Given the description of an element on the screen output the (x, y) to click on. 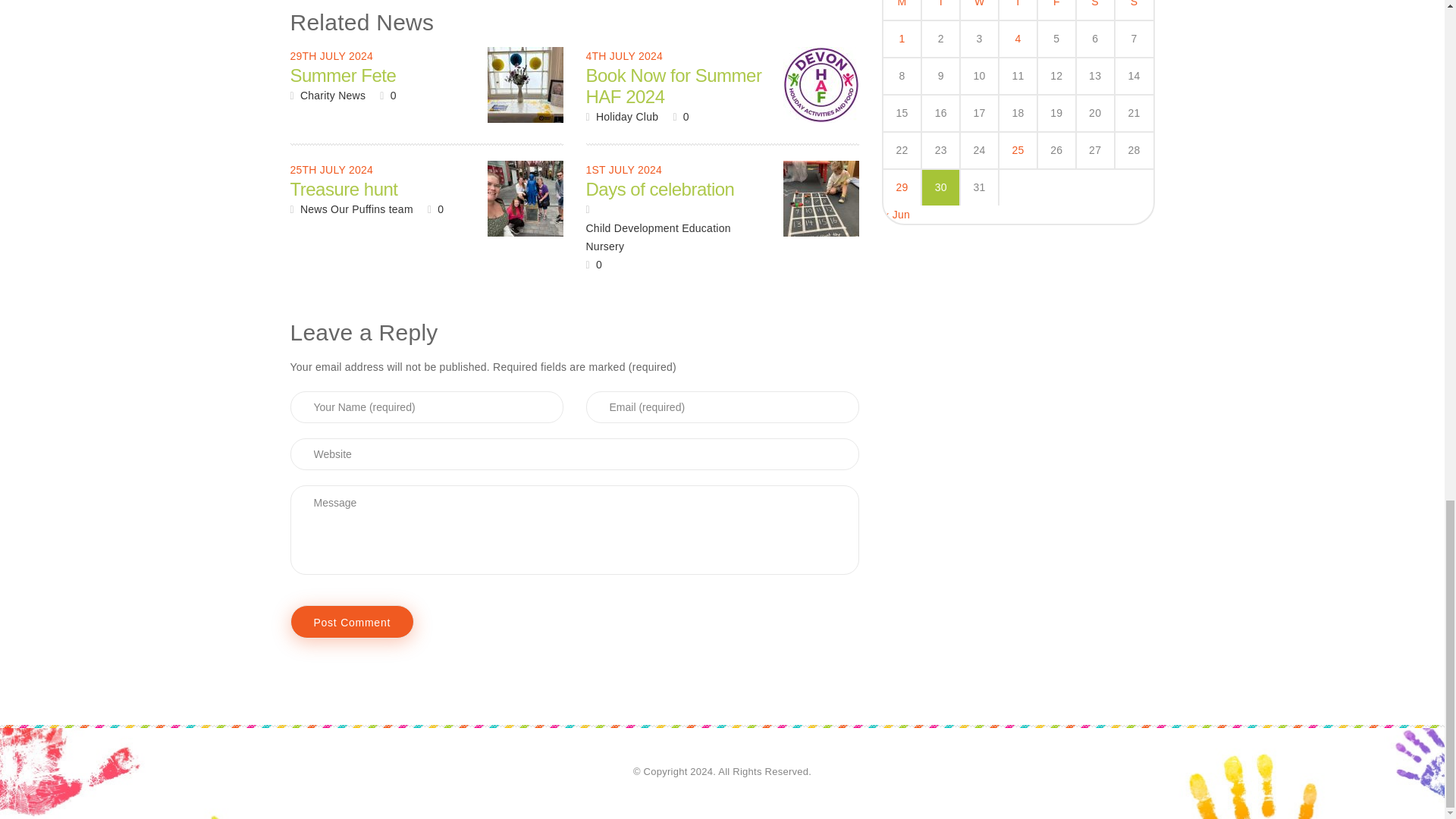
Book Now for Summer HAF 2024 (821, 84)
Days of celebration (821, 198)
Post Comment (351, 621)
Monday (902, 10)
Treasure hunt (524, 198)
Summer Fete (524, 84)
Tuesday (940, 10)
